Given the description of an element on the screen output the (x, y) to click on. 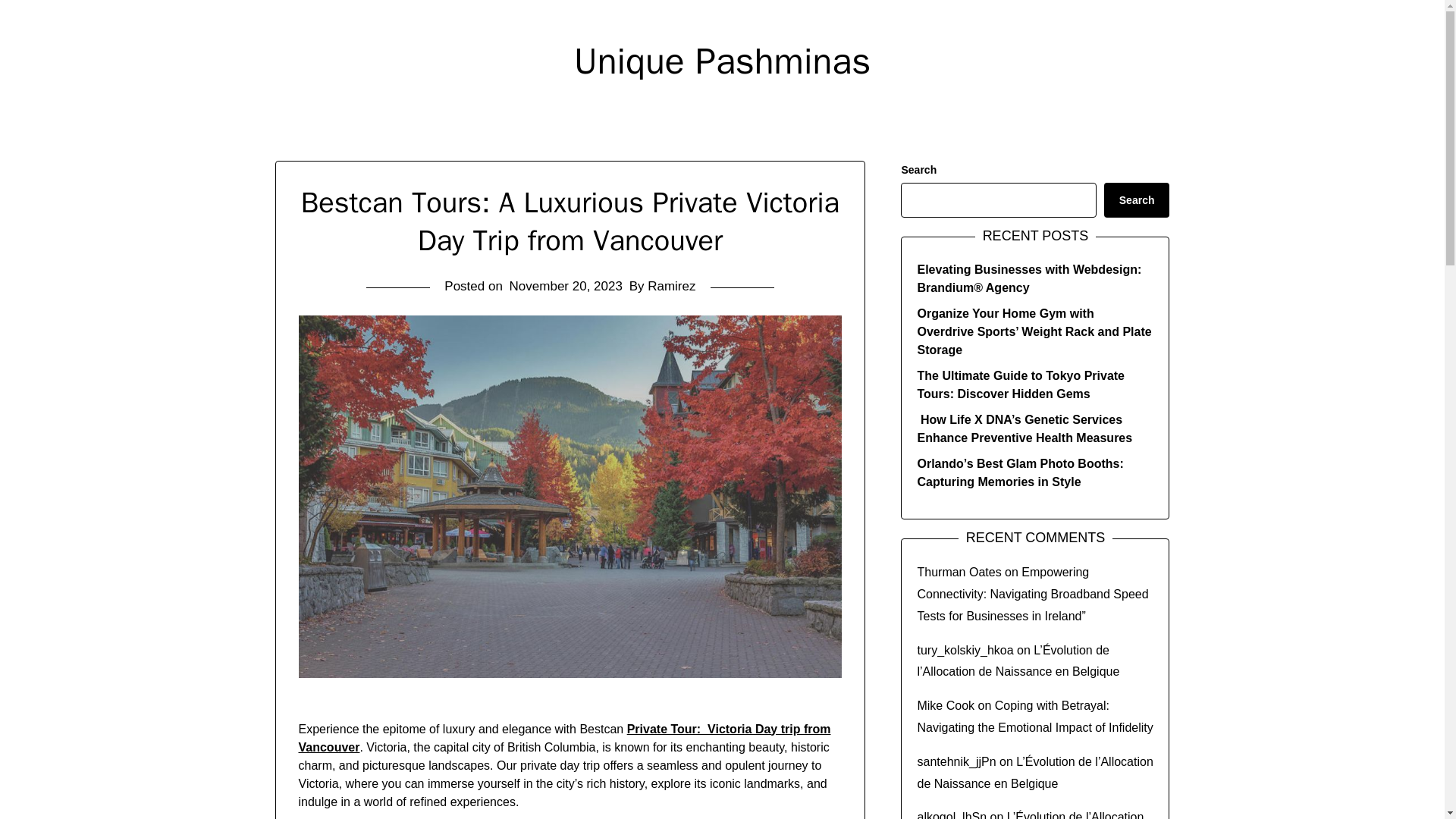
Private Tour:  Victoria Day trip from Vancouver (564, 737)
Mike Cook (945, 705)
Unique Pashminas (721, 61)
Search (1136, 199)
November 20, 2023 (566, 286)
